Given the description of an element on the screen output the (x, y) to click on. 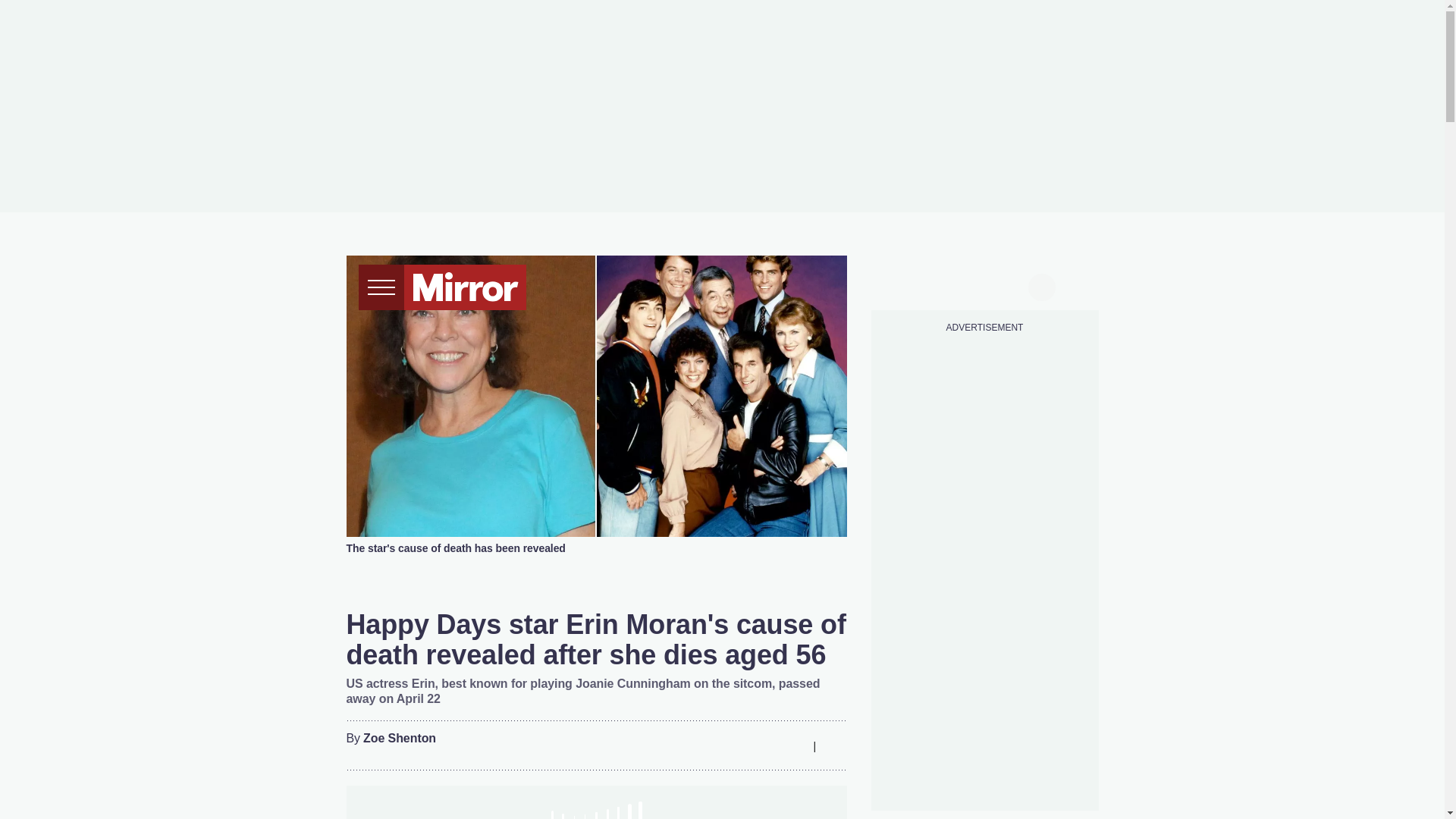
tiktok (955, 285)
Facebook (702, 745)
Comments (834, 745)
twitter (926, 285)
Whatsapp (763, 745)
snapchat (1012, 285)
Twitter (733, 745)
facebook (897, 285)
instagram (984, 285)
